Given the description of an element on the screen output the (x, y) to click on. 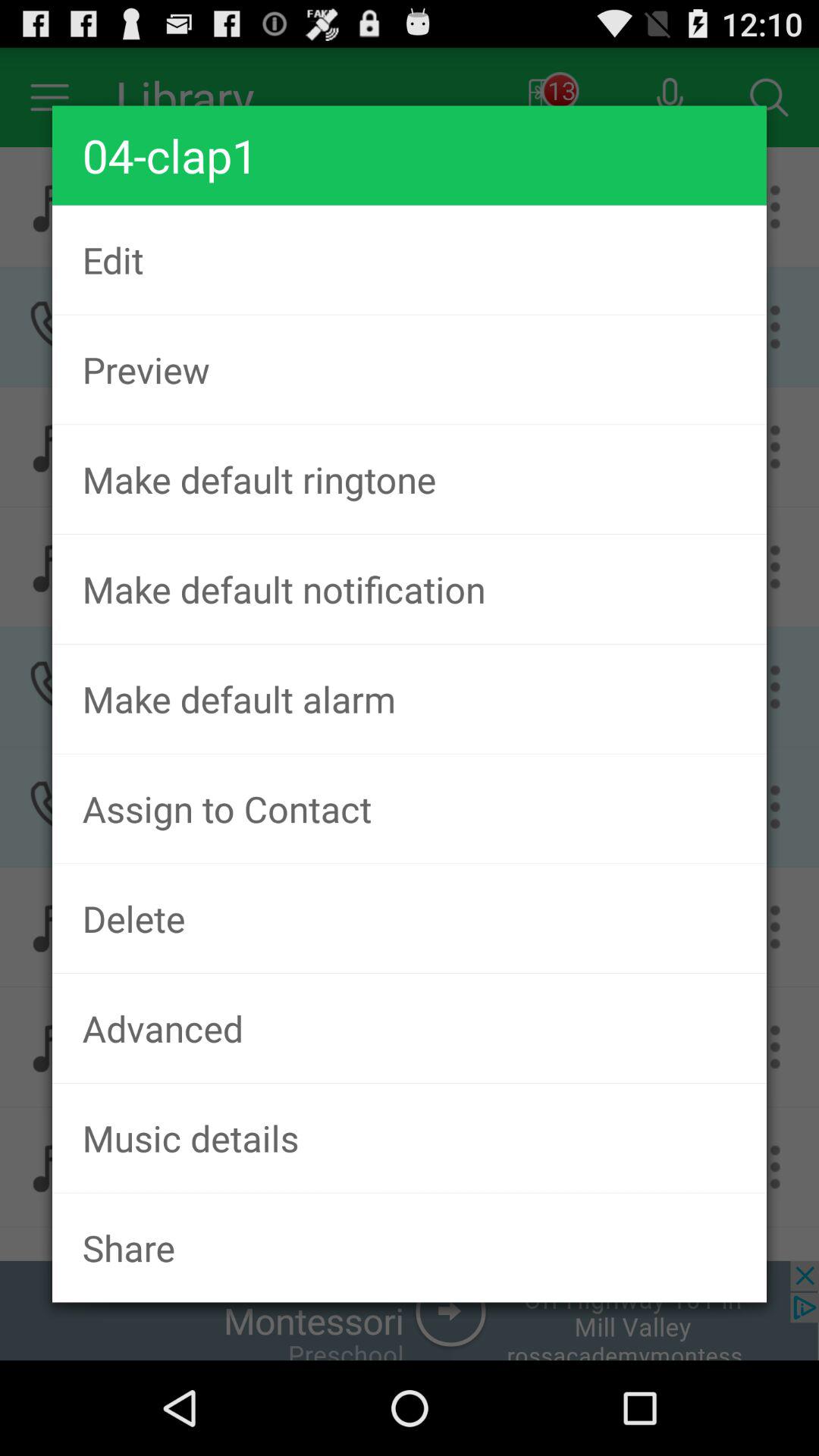
jump until music details item (409, 1137)
